Given the description of an element on the screen output the (x, y) to click on. 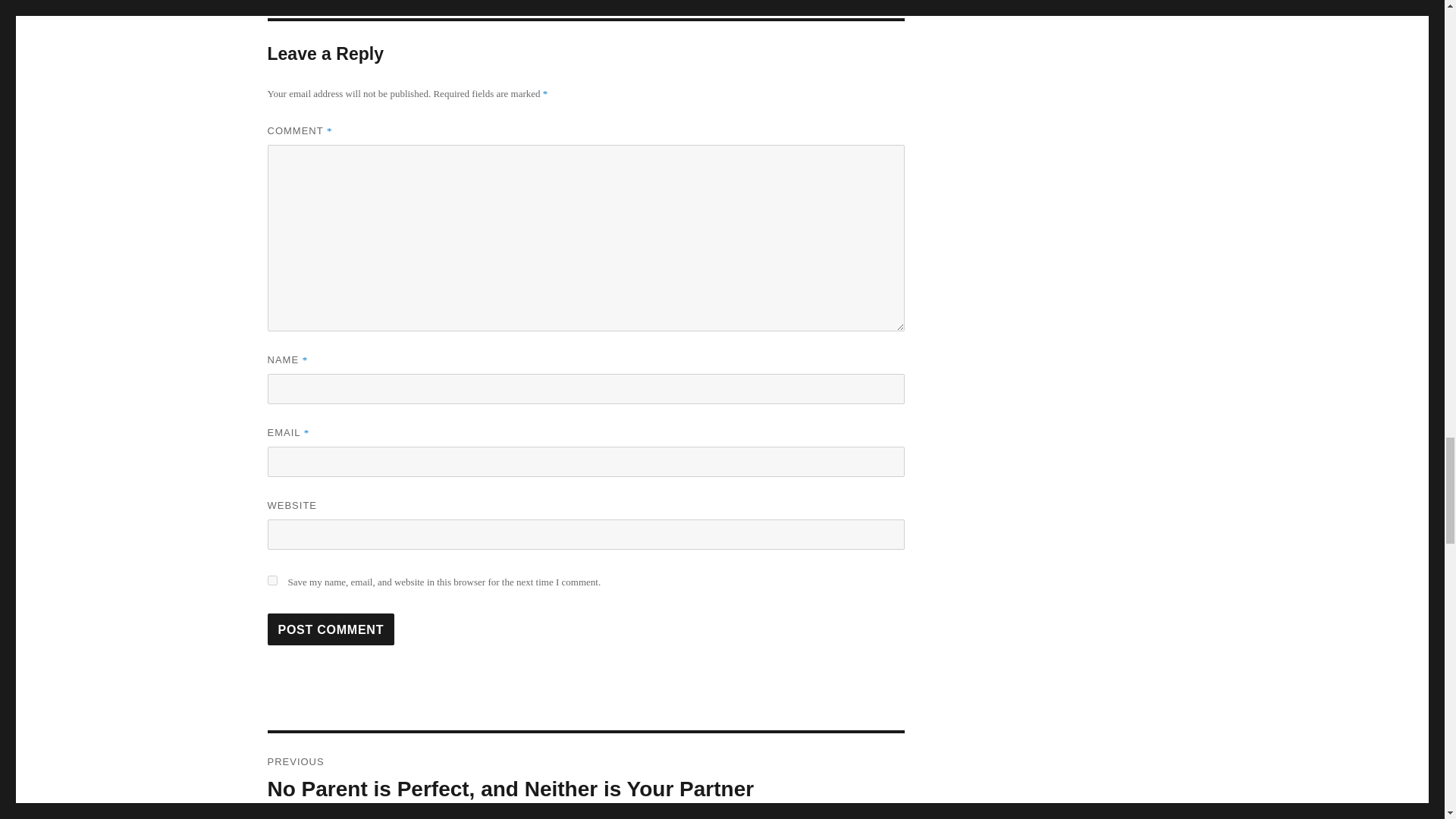
Post Comment (330, 629)
yes (271, 580)
Post Comment (330, 629)
